Given the description of an element on the screen output the (x, y) to click on. 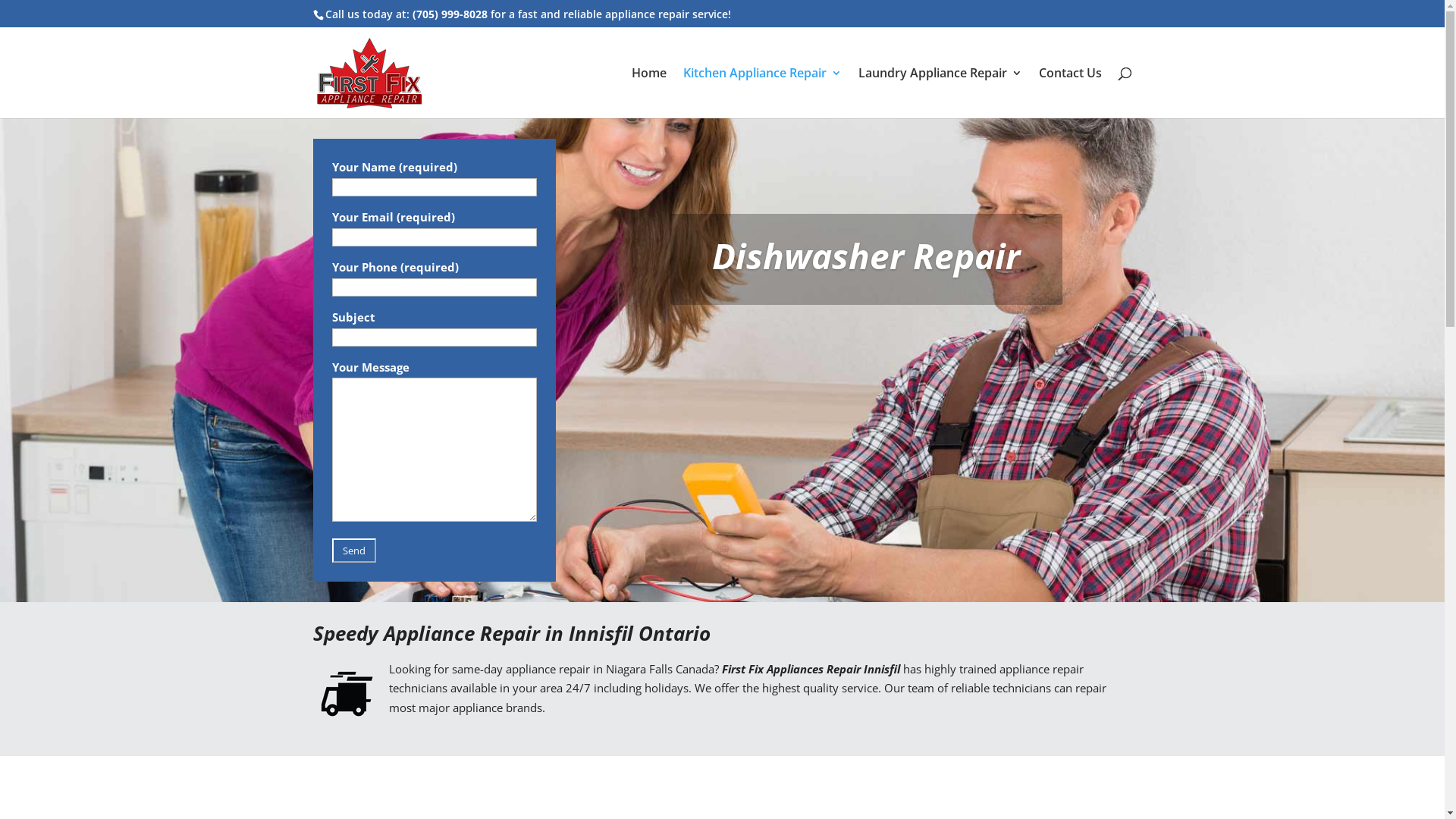
(705) 999-8028 Element type: text (449, 13)
Send Element type: text (354, 550)
Kitchen Appliance Repair Element type: text (761, 92)
Home Element type: text (647, 92)
Laundry Appliance Repair Element type: text (940, 92)
Contact Us Element type: text (1069, 92)
